Given the description of an element on the screen output the (x, y) to click on. 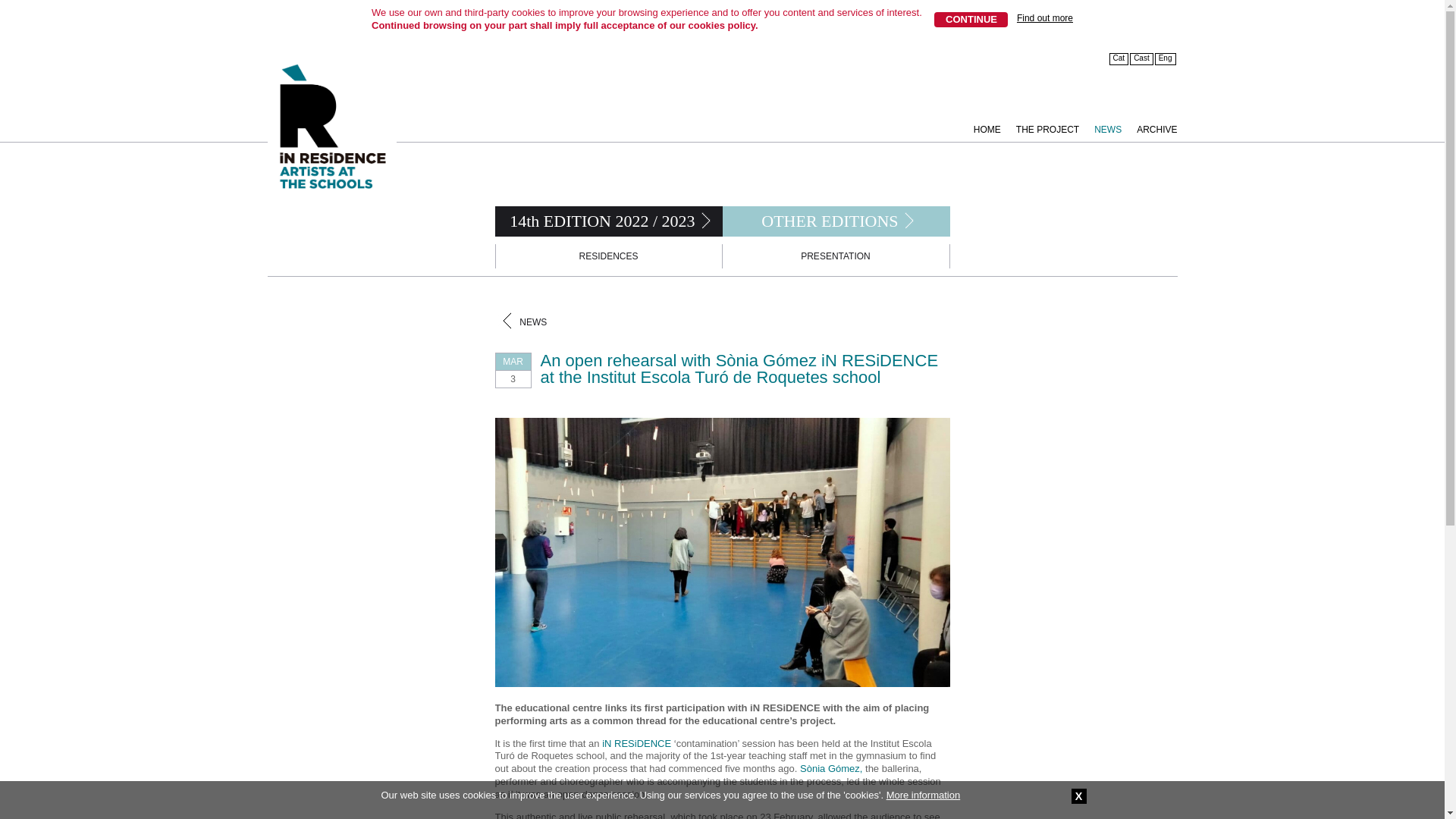
Close (1078, 795)
X (1078, 795)
Cat (1118, 59)
OTHER EDITIONS (826, 221)
NEWS (1099, 124)
More information (923, 794)
Find out more (1044, 17)
Cast (1142, 59)
NEWS (533, 321)
RESIDENCES (609, 256)
Eng (1165, 59)
CONTINUE (970, 19)
THE PROJECT (1039, 124)
iN RESiDENCE (636, 743)
ARCHIVE (1148, 124)
